Given the description of an element on the screen output the (x, y) to click on. 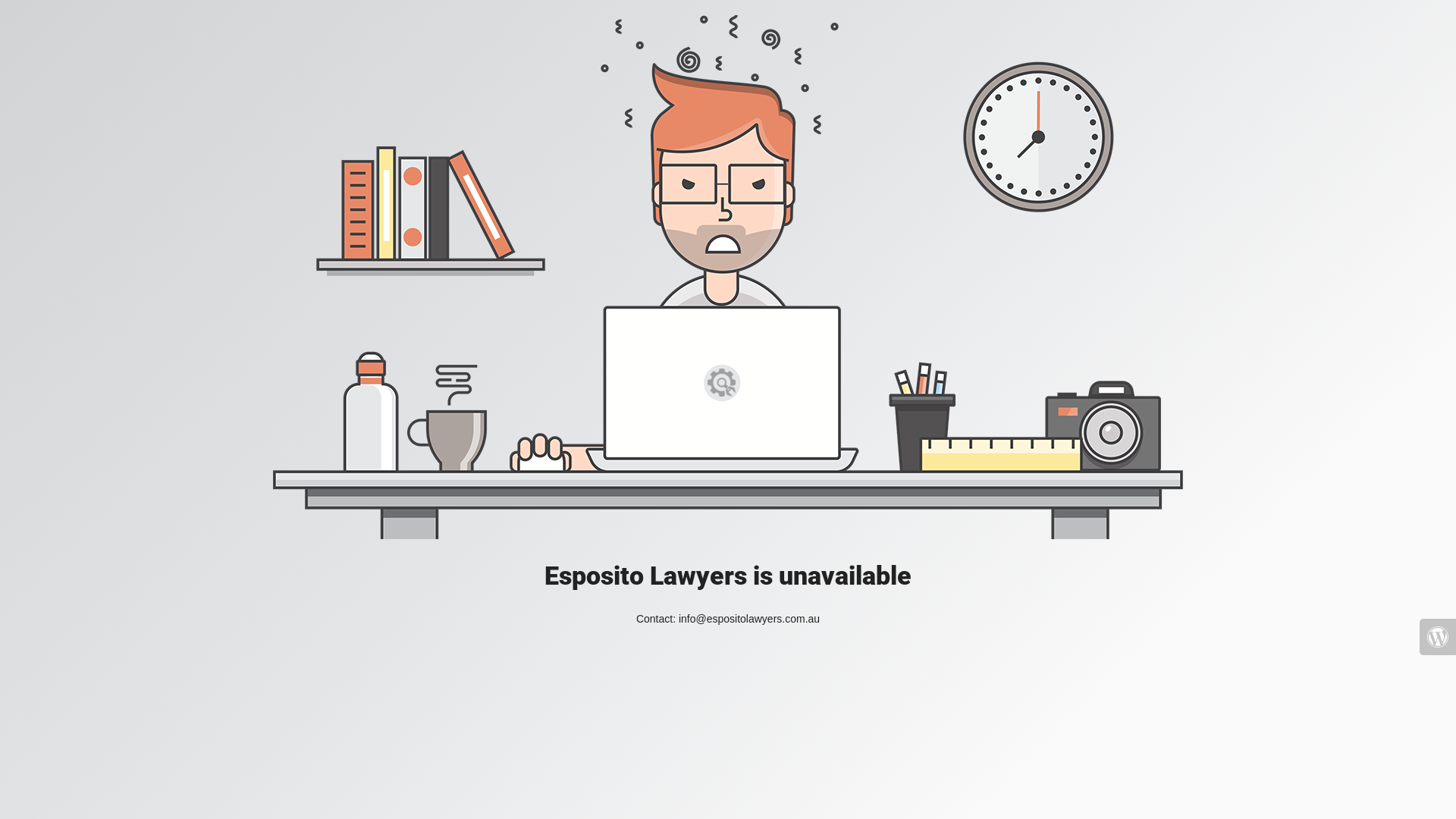
Mad Designer at work Element type: hover (728, 277)
